Given the description of an element on the screen output the (x, y) to click on. 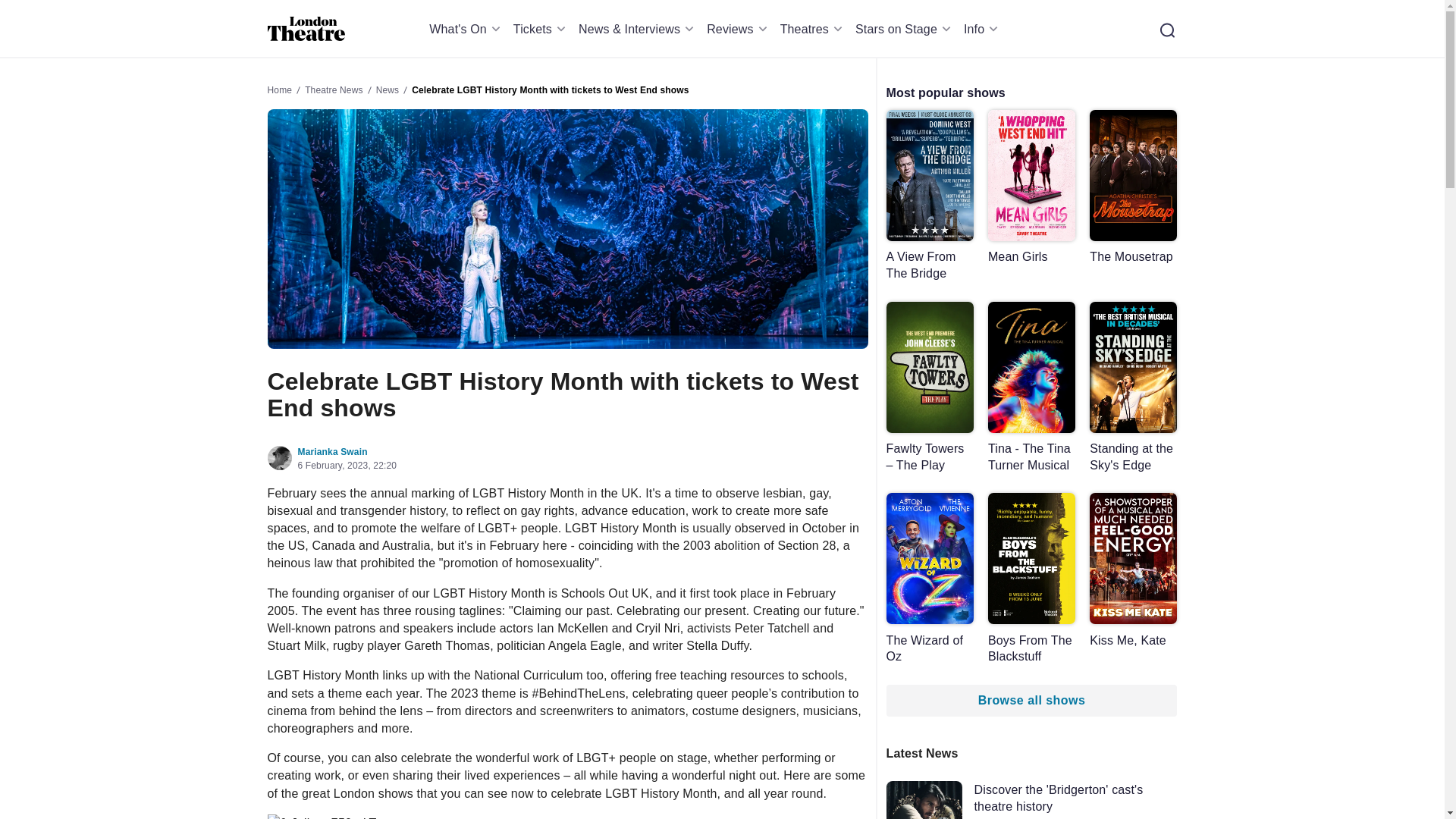
What's On (467, 28)
Home (305, 28)
Reviews (739, 28)
Tickets (541, 28)
